Given the description of an element on the screen output the (x, y) to click on. 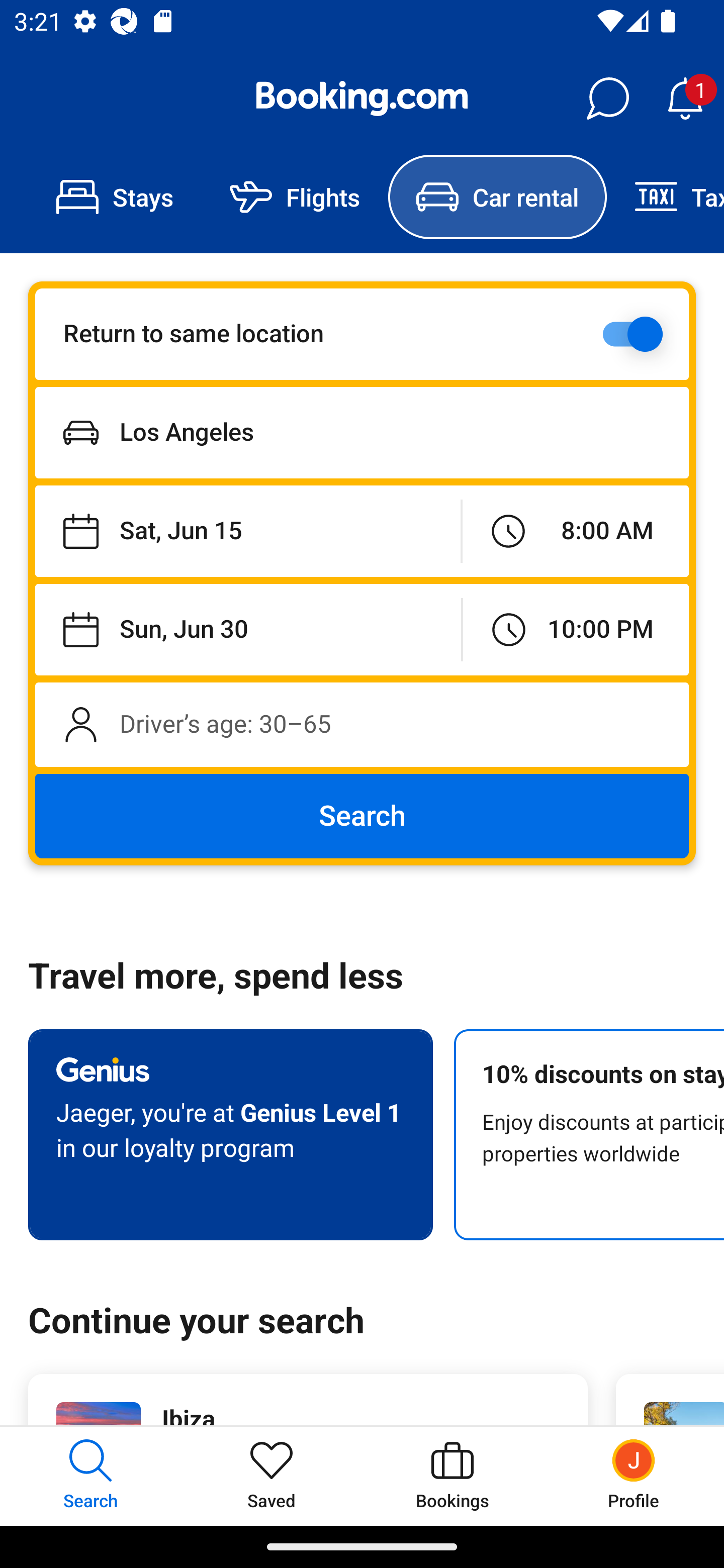
Messages (607, 98)
Notifications (685, 98)
Stays (114, 197)
Flights (294, 197)
Car rental (497, 197)
Taxi (665, 197)
Pick-up location: Text(name=Los Angeles) (361, 432)
Pick-up date: 2024-06-15 (247, 531)
Pick-up time: 08:00:00.000 (575, 531)
Drop-off date: 2024-06-30 (248, 629)
Drop-off time: 22:00:00.000 (575, 629)
Enter the driver's age (361, 724)
Search (361, 815)
Saved (271, 1475)
Bookings (452, 1475)
Profile (633, 1475)
